Given the description of an element on the screen output the (x, y) to click on. 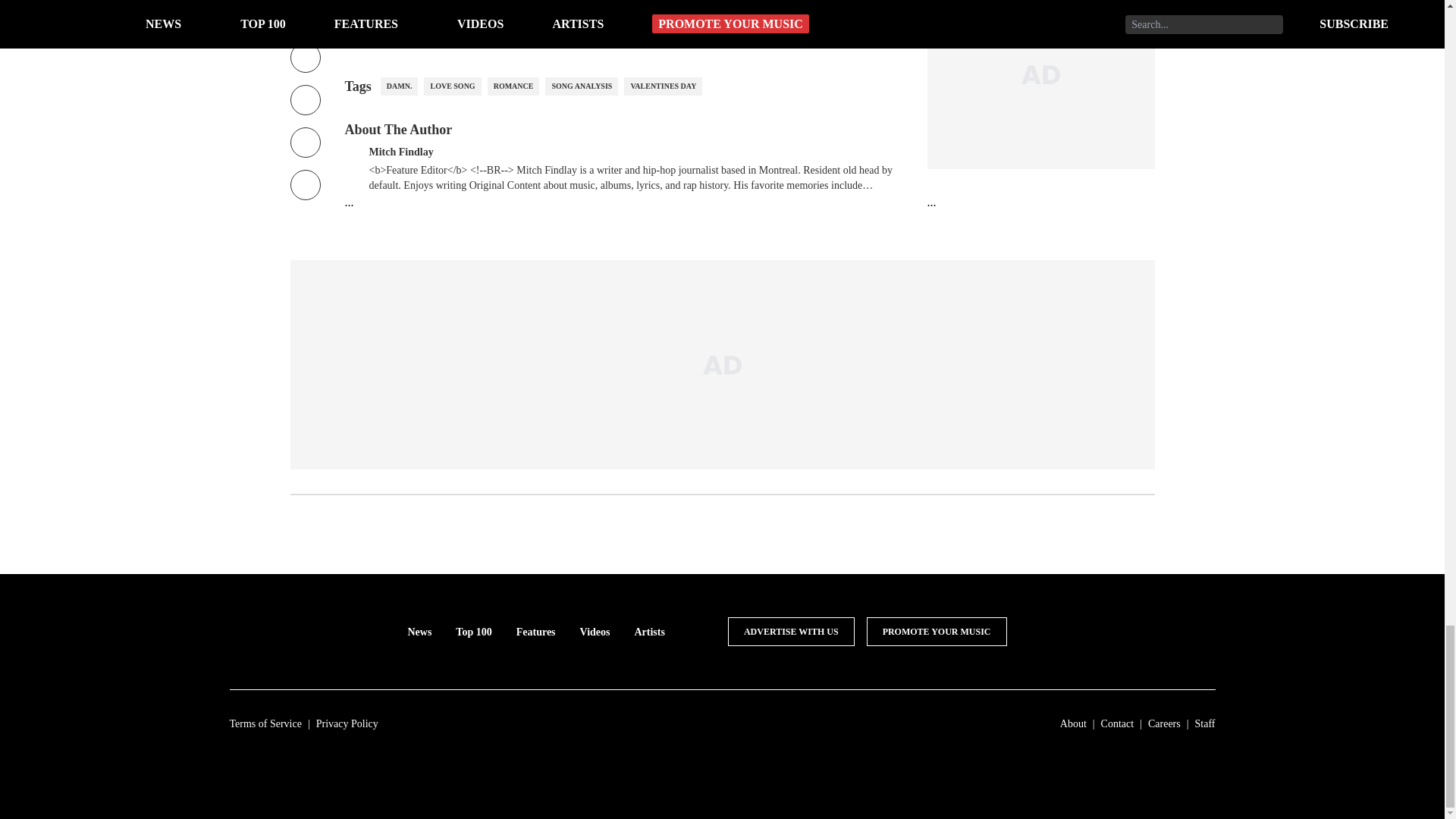
Mitch Findlay (400, 150)
ROMANCE (513, 85)
SONG ANALYSIS (580, 85)
DAMN. (399, 85)
LOVE SONG (451, 85)
VALENTINES DAY (662, 85)
